Given the description of an element on the screen output the (x, y) to click on. 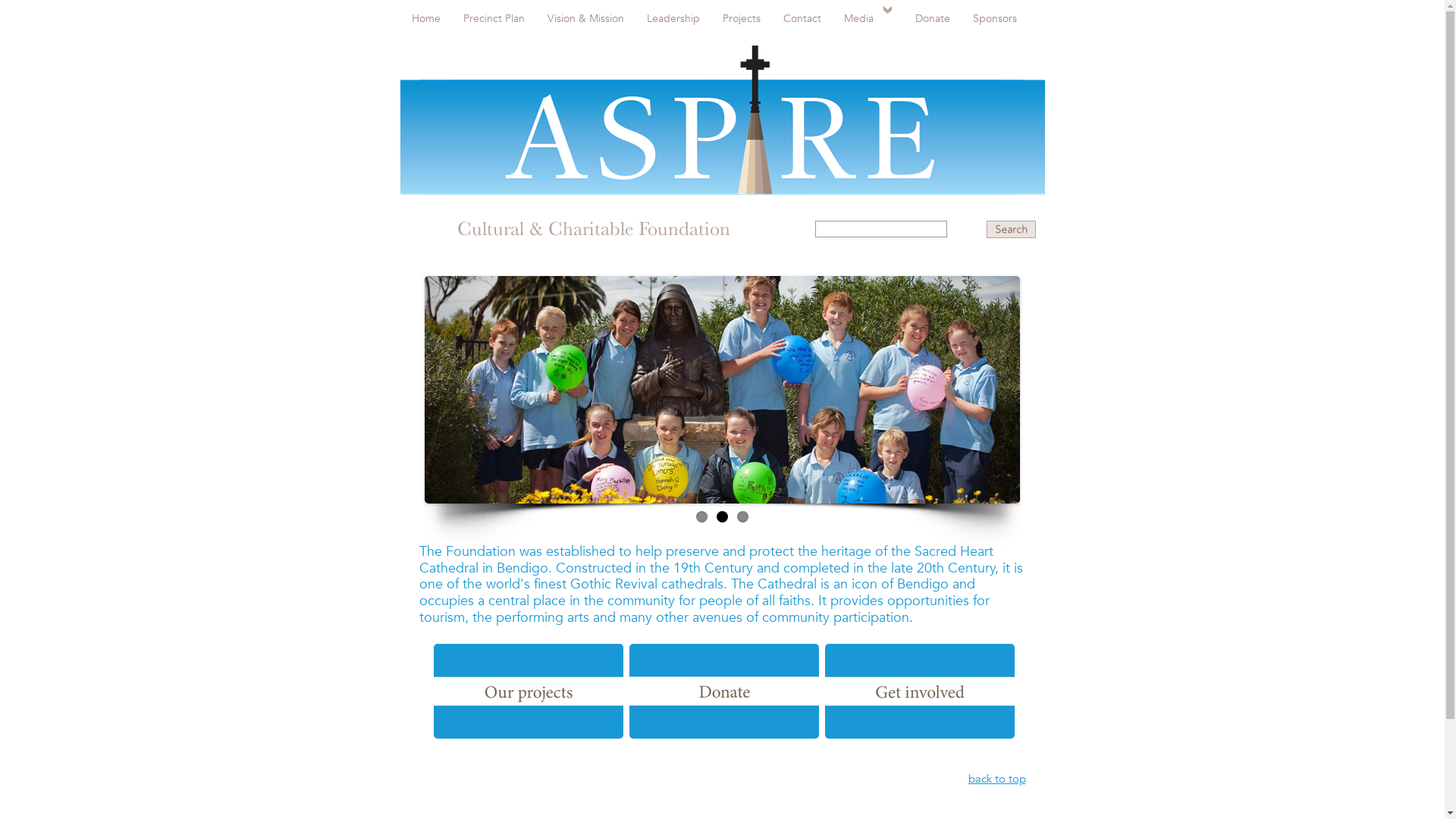
Donate Element type: text (932, 18)
1 Element type: text (701, 516)
Primary School children at Rushworth Element type: hover (721, 389)
Contact Element type: text (801, 18)
Sponsors Element type: text (994, 18)
Projects Element type: text (741, 18)
Home Element type: text (425, 18)
Precinct Plan Element type: text (493, 18)
Leadership Element type: text (673, 18)
Media
>open Element type: text (867, 18)
Vision & Mission Element type: text (584, 18)
2 Element type: text (722, 516)
back to top Element type: text (996, 778)
3 Element type: text (742, 516)
